Given the description of an element on the screen output the (x, y) to click on. 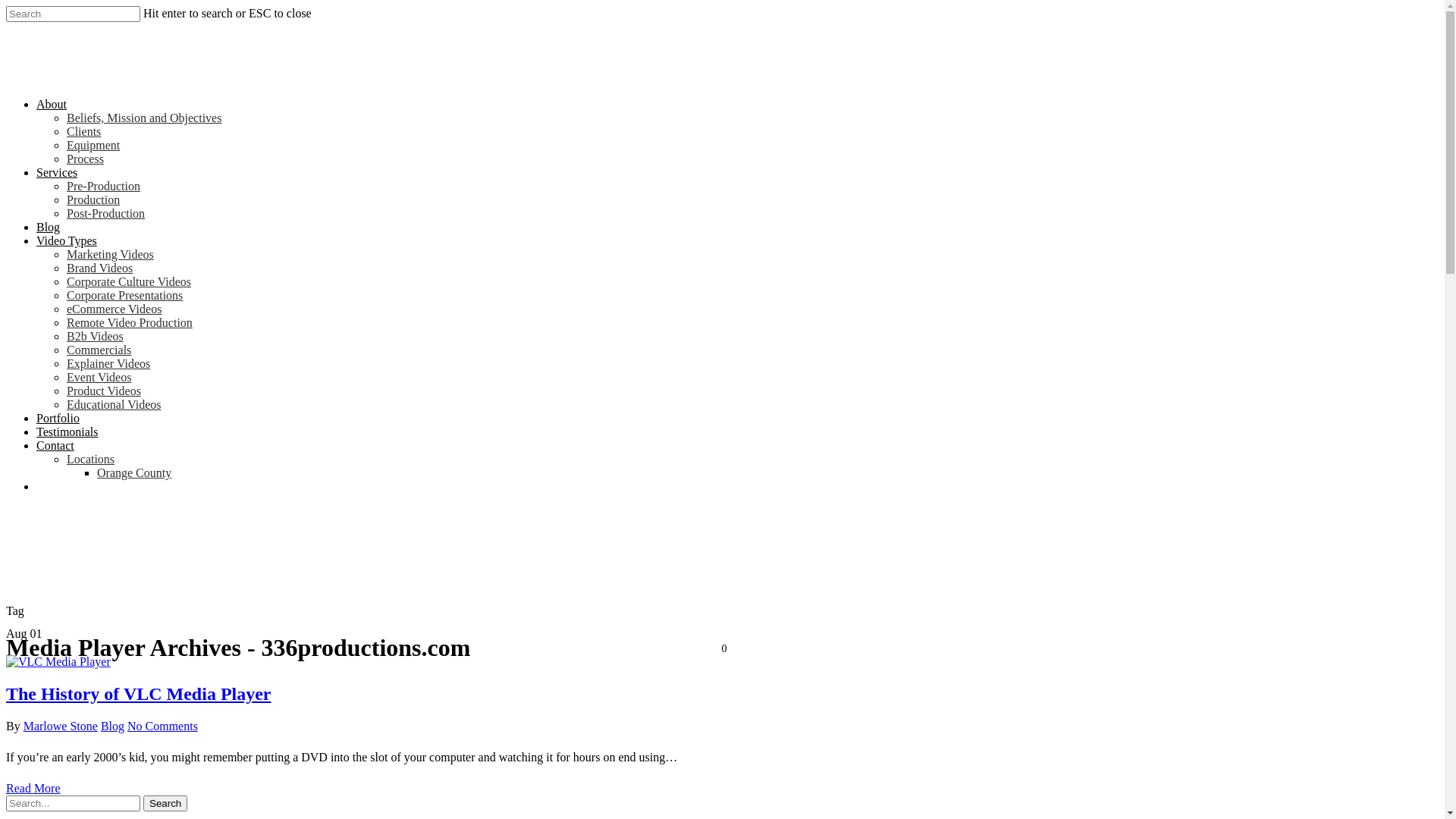
0 Element type: text (721, 648)
Services Element type: text (56, 172)
Production Element type: text (92, 199)
Testimonials Element type: text (67, 431)
eCommerce Videos Element type: text (113, 308)
Beliefs, Mission and Objectives Element type: text (143, 117)
Marketing Videos Element type: text (109, 253)
Blog Element type: text (112, 725)
Clients Element type: text (83, 131)
Read More Element type: text (33, 787)
Product Videos Element type: text (103, 390)
Brand Videos Element type: text (99, 267)
Process Element type: text (84, 158)
Contact Element type: text (55, 445)
Post-Production Element type: text (105, 213)
Search Element type: text (165, 803)
Corporate Presentations Element type: text (124, 294)
Blog Element type: text (47, 226)
Locations Element type: text (90, 458)
Educational Videos Element type: text (113, 404)
Equipment Element type: text (92, 144)
Event Videos Element type: text (98, 376)
Video Types Element type: text (66, 240)
Commercials Element type: text (98, 349)
About Element type: text (51, 103)
Remote Video Production Element type: text (129, 322)
The History of VLC Media Player Element type: text (138, 693)
No Comments Element type: text (162, 725)
Portfolio Element type: text (57, 417)
B2b Videos Element type: text (94, 335)
Explainer Videos Element type: text (108, 363)
Search for: Element type: hover (73, 803)
Pre-Production Element type: text (103, 185)
Corporate Culture Videos Element type: text (128, 281)
Marlowe Stone Element type: text (60, 725)
Orange County Element type: text (134, 472)
